Given the description of an element on the screen output the (x, y) to click on. 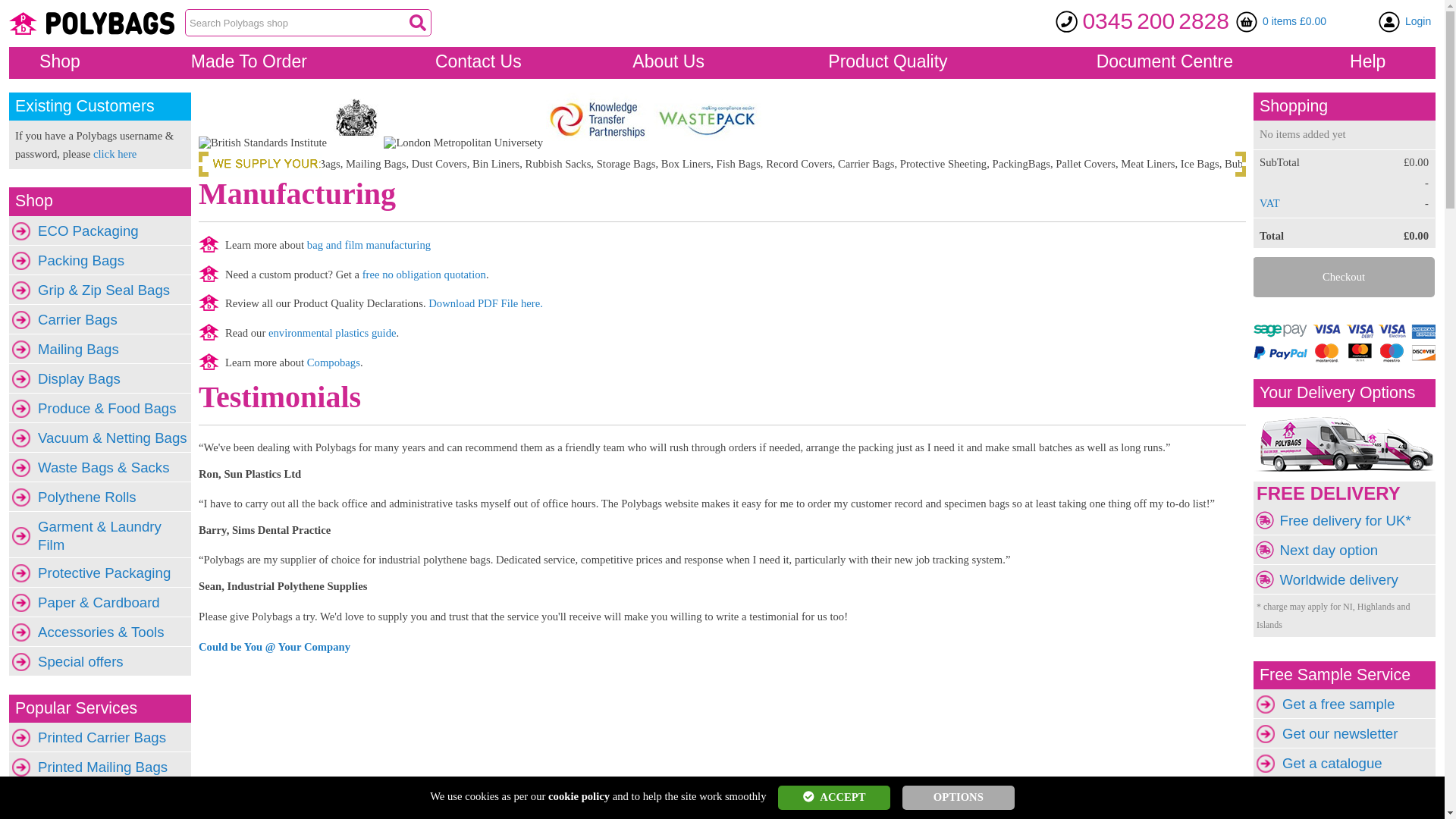
Back to the Polybags home page (91, 23)
Made To Order (259, 61)
Browse or buy from our full online catalogue (70, 61)
Shop (70, 61)
Login (1418, 21)
